Given the description of an element on the screen output the (x, y) to click on. 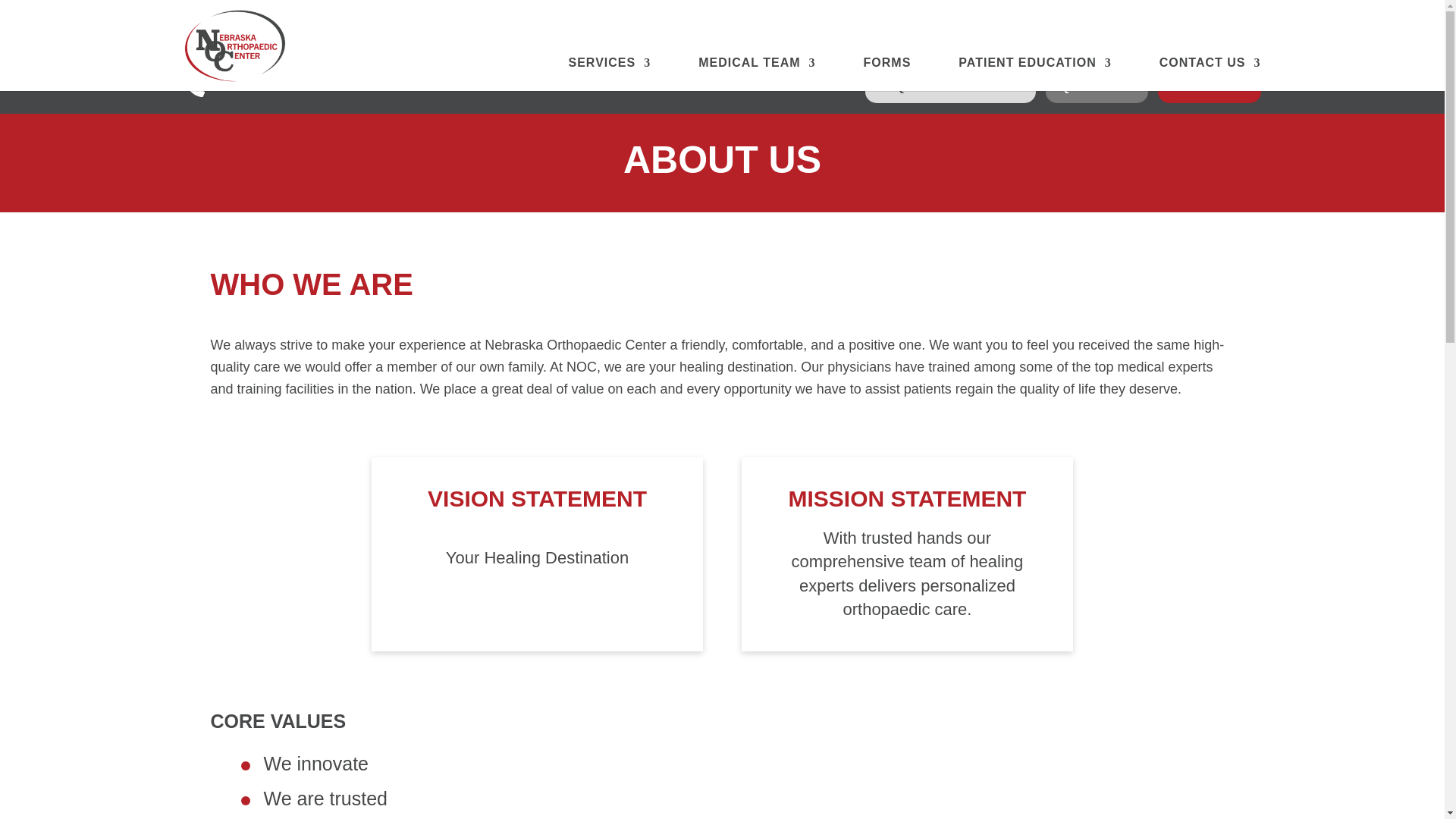
FORMS (887, 73)
CONTACT US (1209, 73)
PATIENT EDUCATION (1034, 73)
SERVICES (609, 73)
MEDICAL TEAM (756, 73)
